Given the description of an element on the screen output the (x, y) to click on. 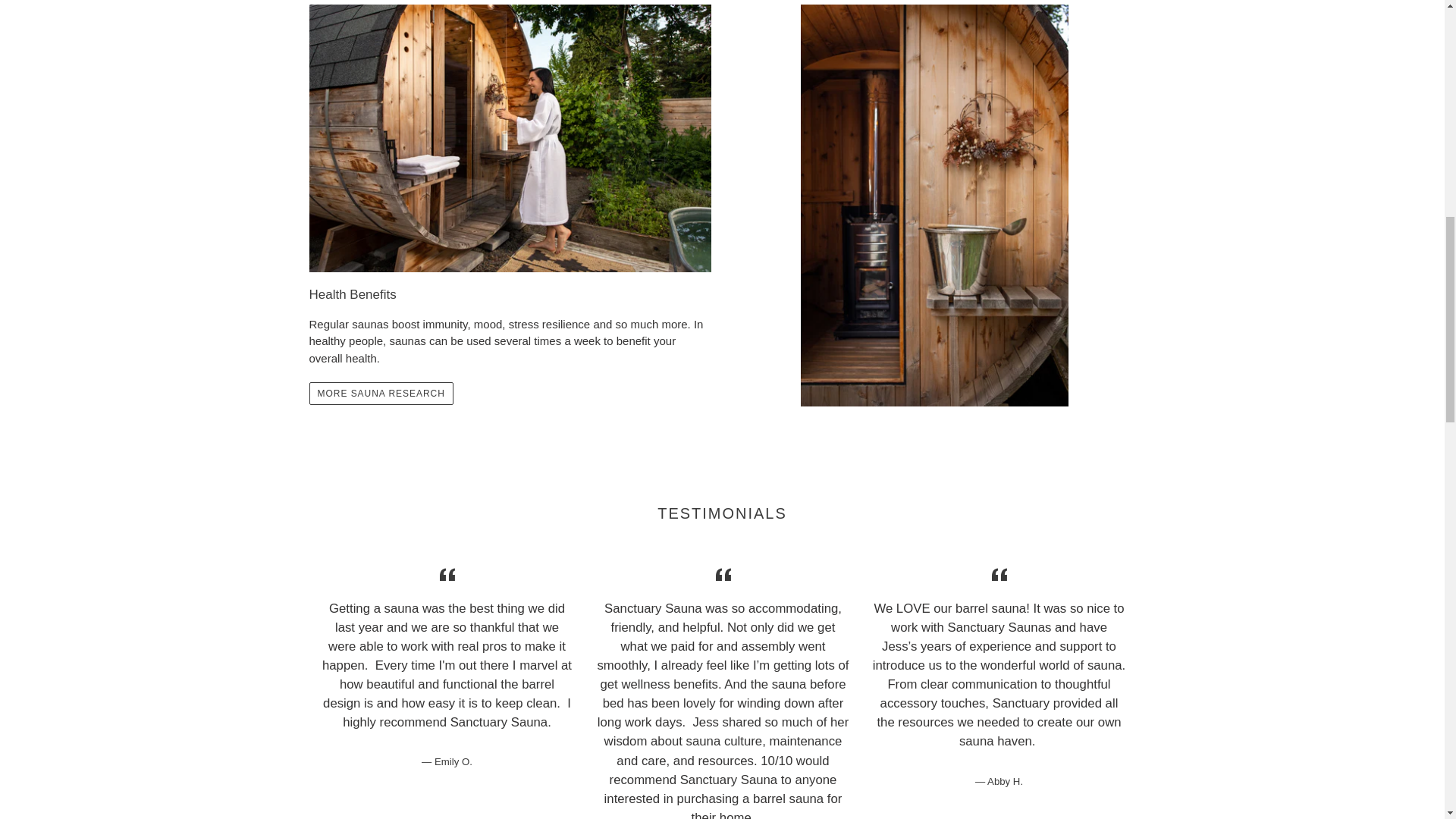
MORE SAUNA RESEARCH (380, 393)
